Given the description of an element on the screen output the (x, y) to click on. 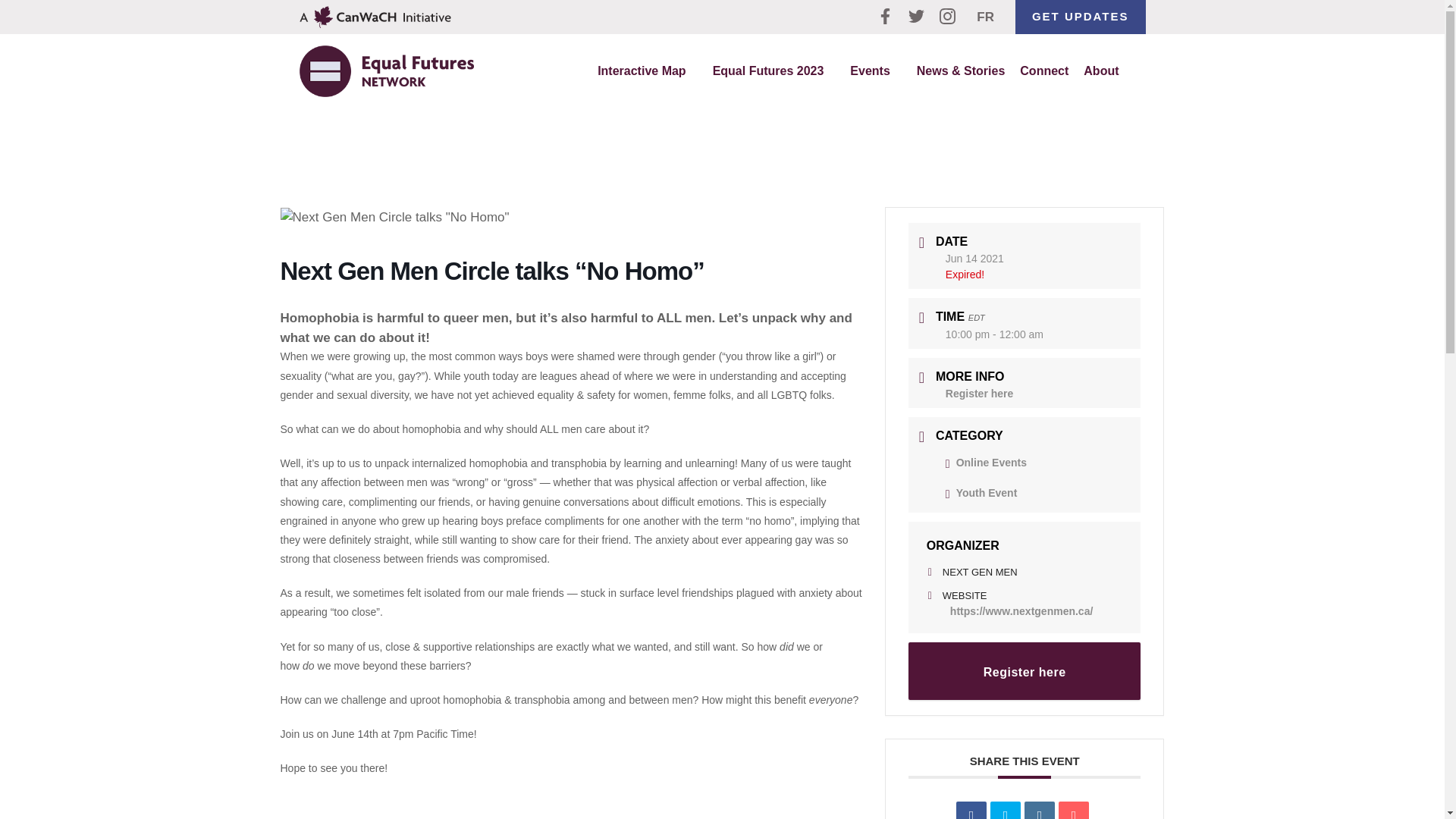
Youth Event (980, 492)
Register here (978, 393)
Events (875, 71)
Online Events (985, 462)
Share on Facebook (971, 810)
Interactive Map (646, 71)
FR (985, 16)
Linkedin (1039, 810)
Equal Futures 2023 (773, 71)
About (1106, 71)
